Given the description of an element on the screen output the (x, y) to click on. 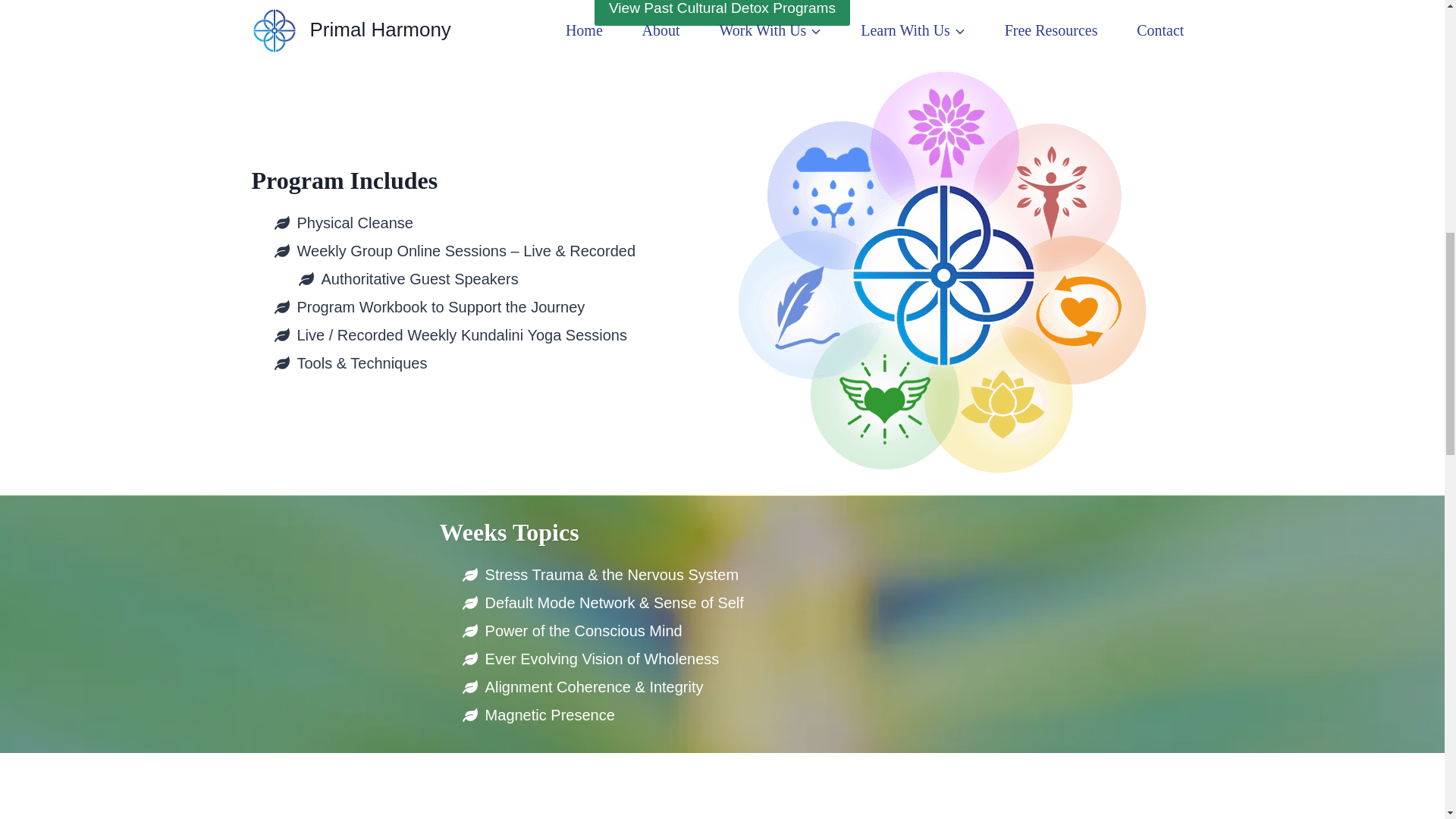
View Past Cultural Detox Programs (722, 12)
